Given the description of an element on the screen output the (x, y) to click on. 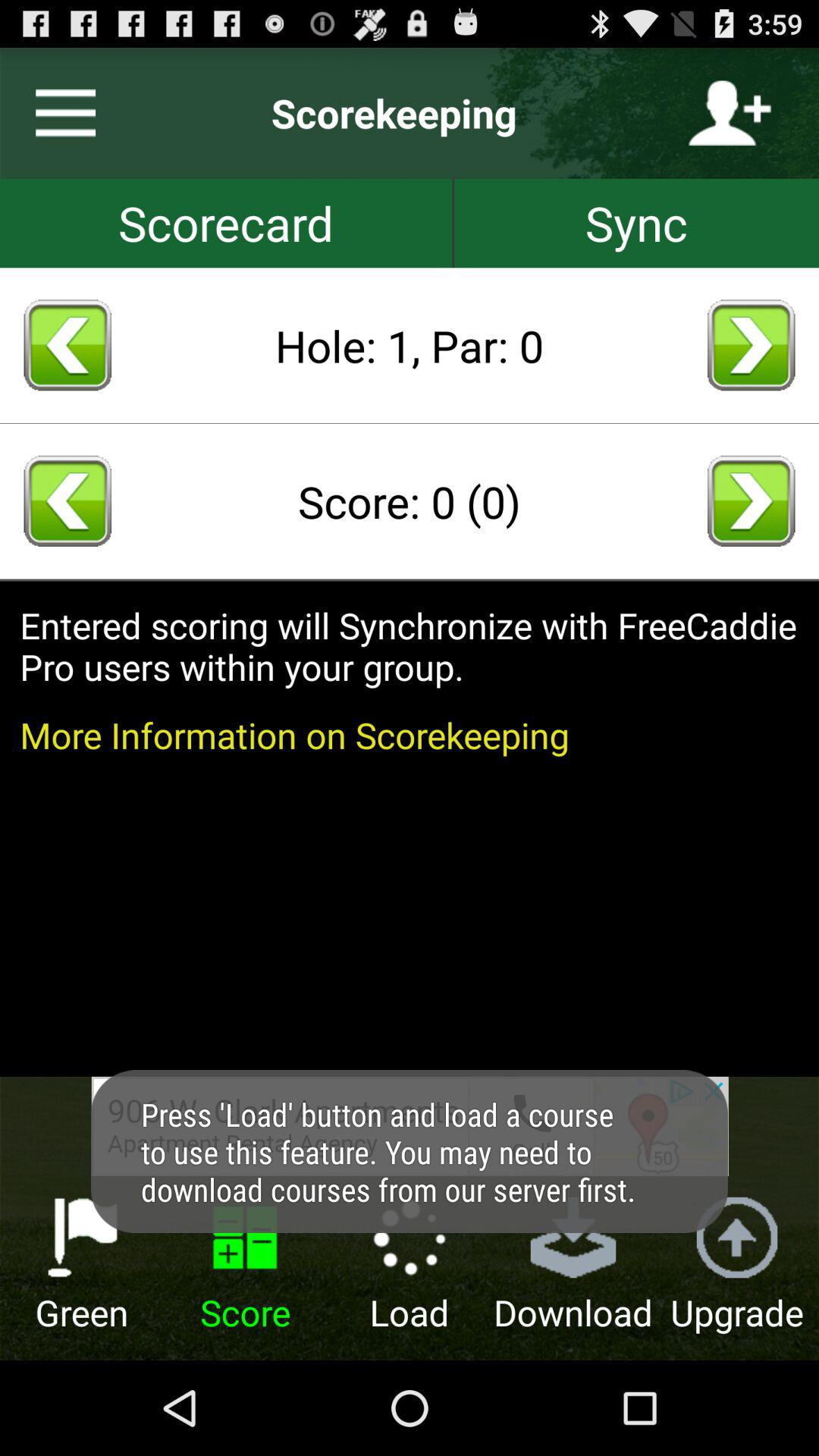
play (751, 500)
